Given the description of an element on the screen output the (x, y) to click on. 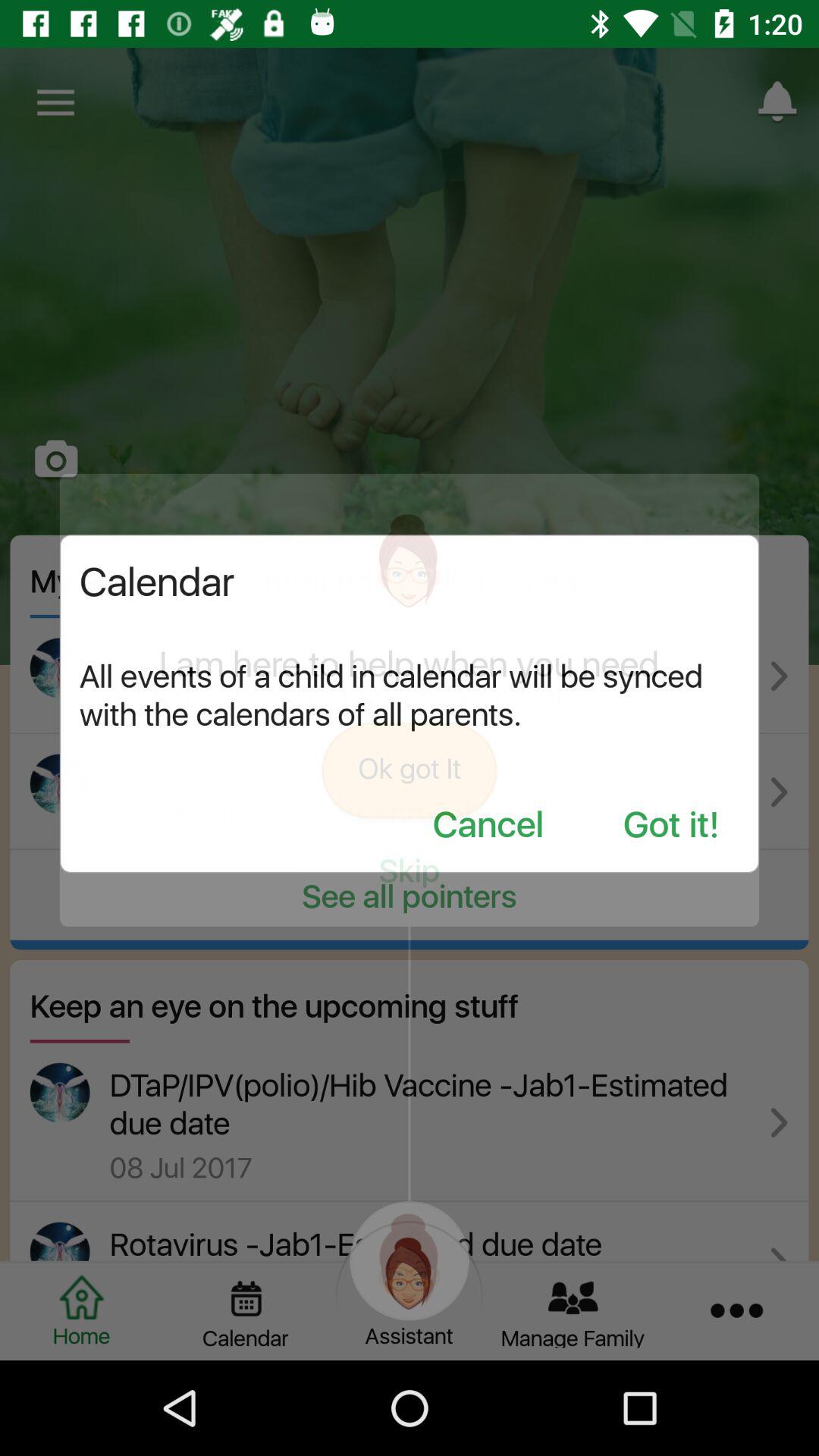
flip to got it! (671, 826)
